Given the description of an element on the screen output the (x, y) to click on. 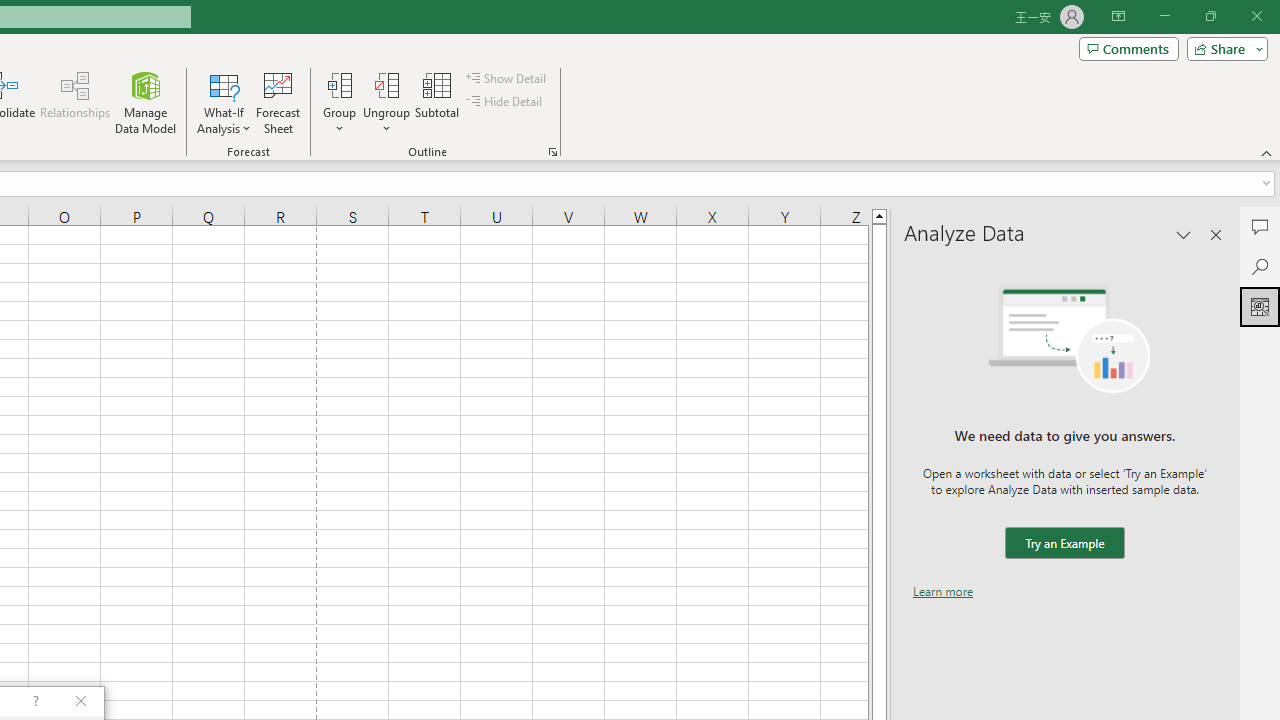
Learn more (943, 591)
